Given the description of an element on the screen output the (x, y) to click on. 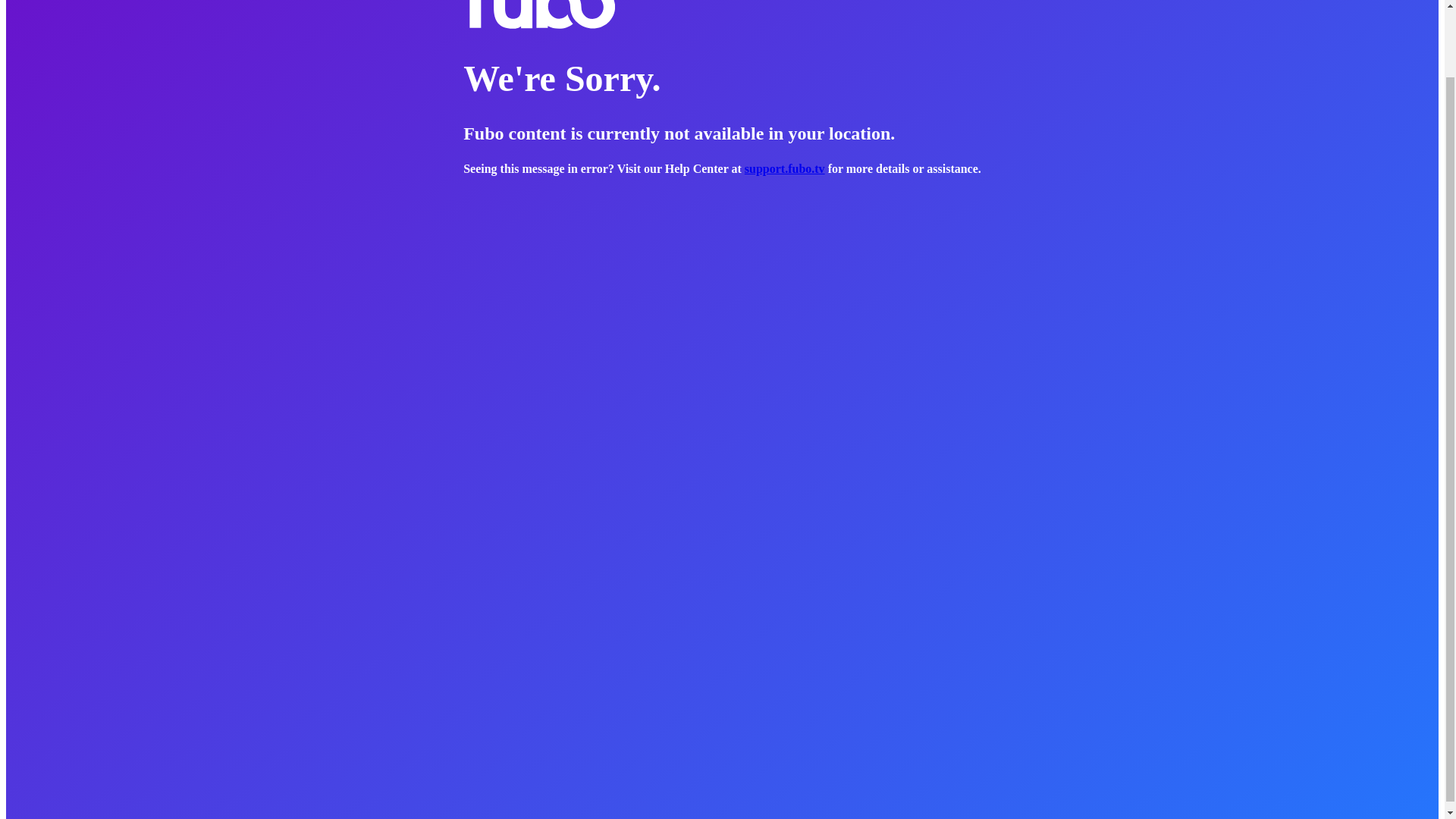
fubo logo (538, 15)
support.fubo.tv (784, 168)
